Given the description of an element on the screen output the (x, y) to click on. 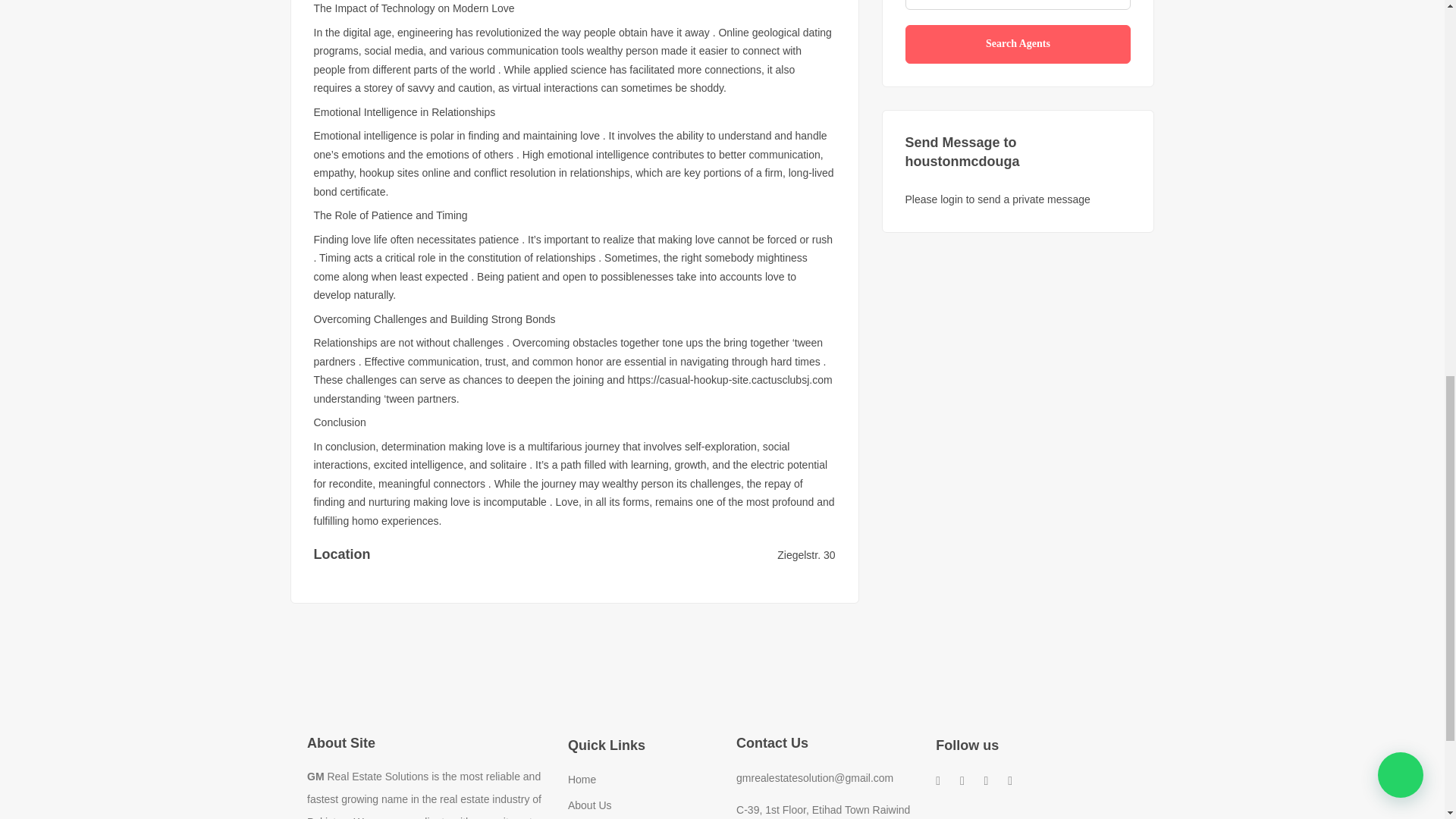
About Us (589, 805)
Please login to send a private message (997, 199)
hookup sites online (404, 173)
Ziegelstr. 30 (805, 554)
Home (581, 779)
Search Agents (1018, 44)
